Given the description of an element on the screen output the (x, y) to click on. 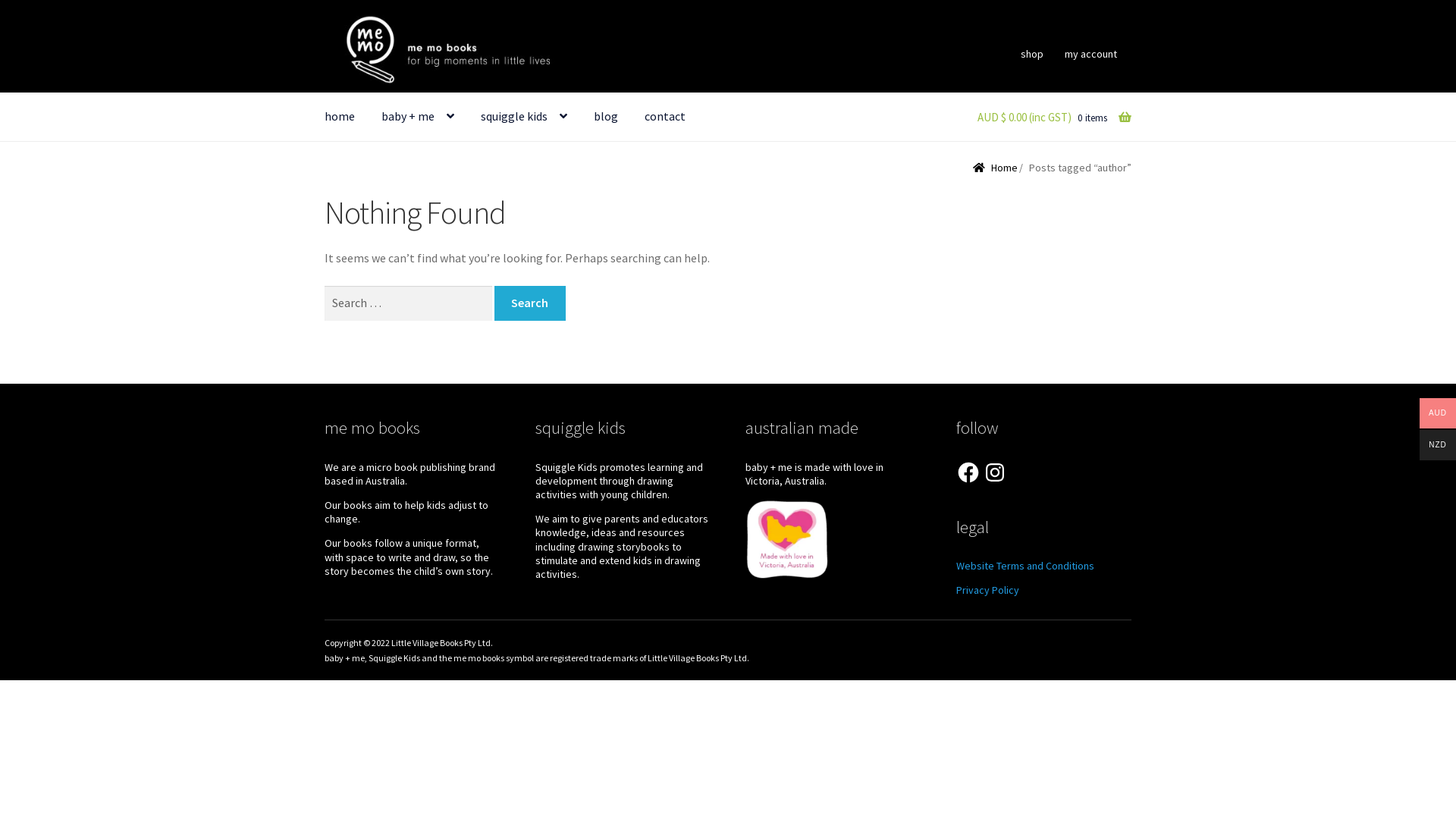
Facebook Element type: text (968, 472)
shop Element type: text (1032, 53)
home Element type: text (339, 116)
Search Element type: text (529, 302)
Instagram Element type: text (994, 472)
my account Element type: text (1090, 53)
contact Element type: text (664, 116)
baby + me Element type: text (417, 116)
Privacy Policy Element type: text (987, 589)
blog Element type: text (605, 116)
Skip to navigation Element type: text (323, 14)
squiggle kids Element type: text (523, 116)
Website Terms and Conditions Element type: text (1025, 565)
Home Element type: text (994, 167)
AUD $ 0.00 (inc GST) 0 items Element type: text (1043, 117)
